Given the description of an element on the screen output the (x, y) to click on. 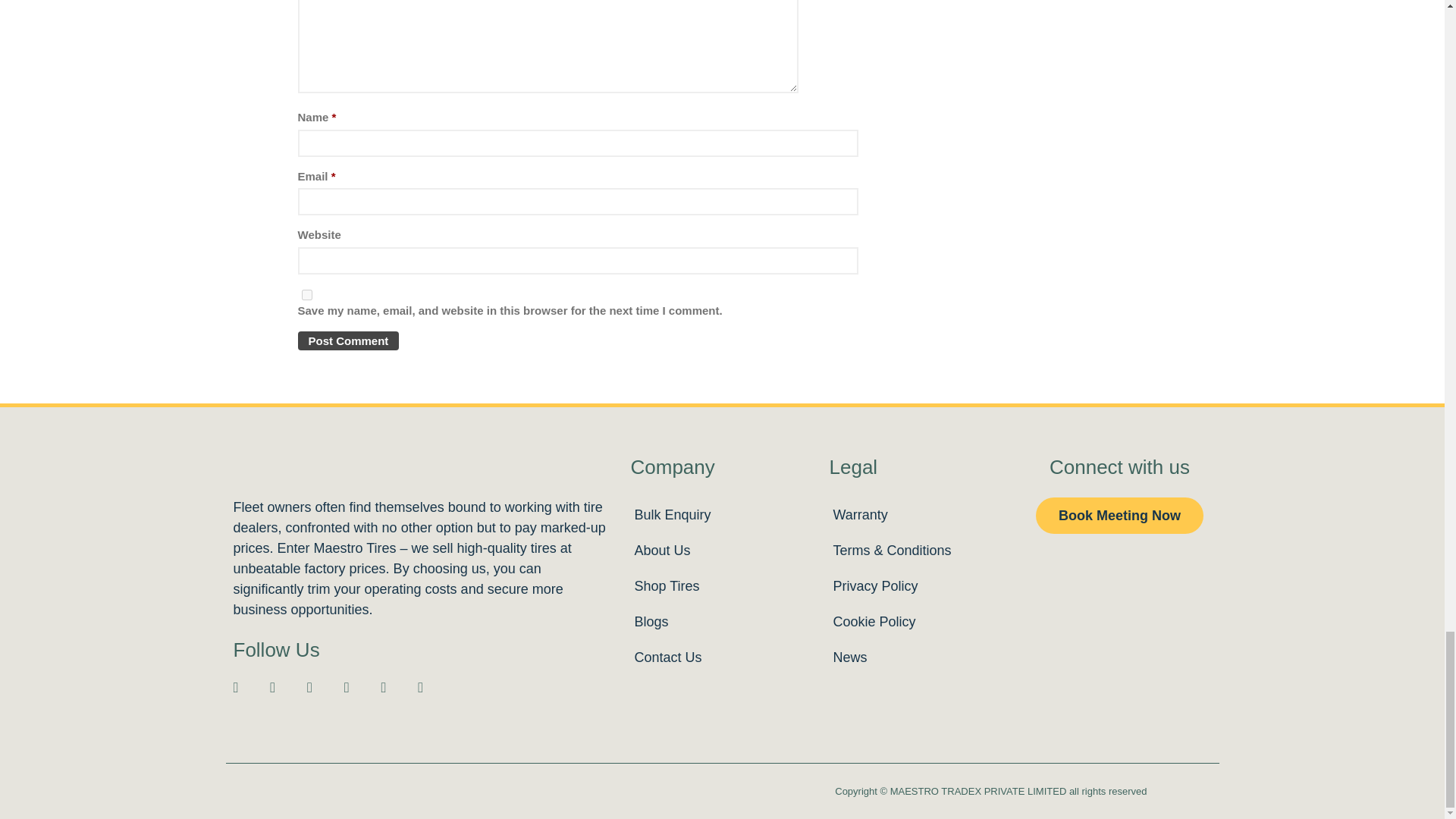
Post Comment (347, 340)
yes (307, 294)
